Given the description of an element on the screen output the (x, y) to click on. 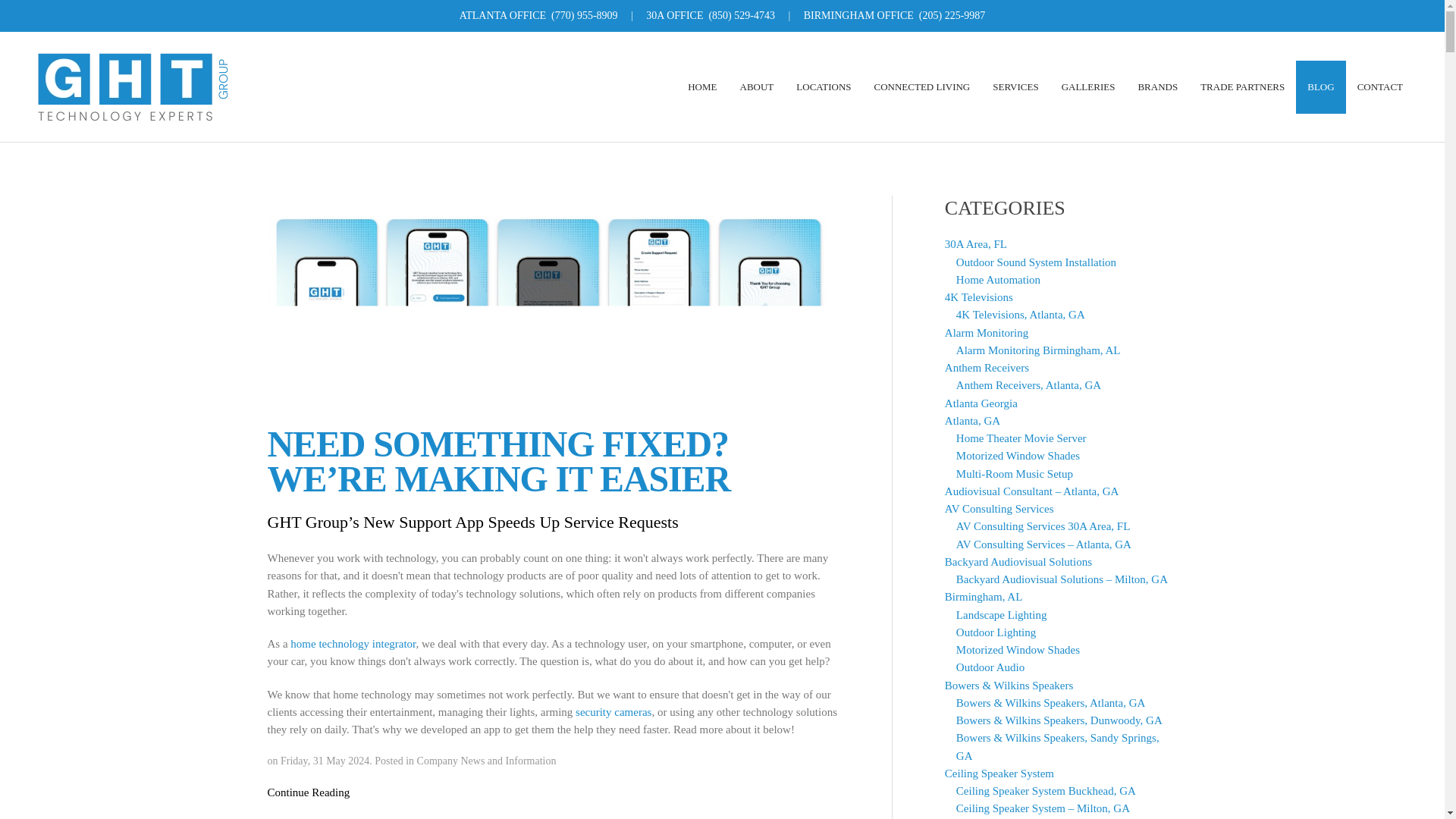
ATLANTA OFFICE (503, 15)
BIRMINGHAM OFFICE (858, 15)
HOME (702, 86)
ABOUT (757, 86)
30A OFFICE (674, 15)
